Given the description of an element on the screen output the (x, y) to click on. 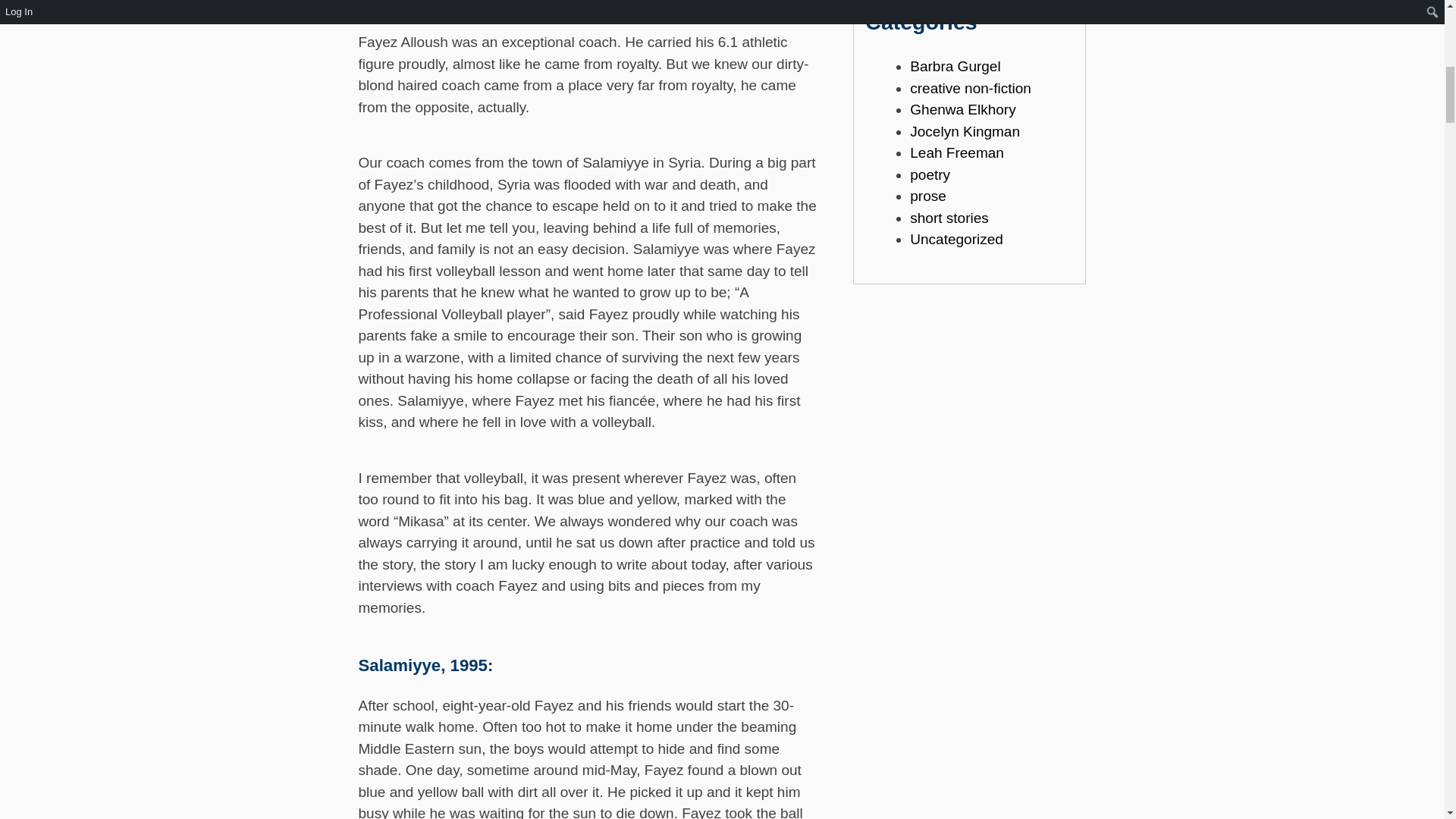
Uncategorized (956, 238)
short stories (949, 217)
Barbra Gurgel (955, 66)
Leah Freeman (957, 152)
creative non-fiction (970, 88)
poetry (930, 174)
prose (928, 195)
Ghenwa Elkhory (962, 109)
Jocelyn Kingman (965, 131)
